Given the description of an element on the screen output the (x, y) to click on. 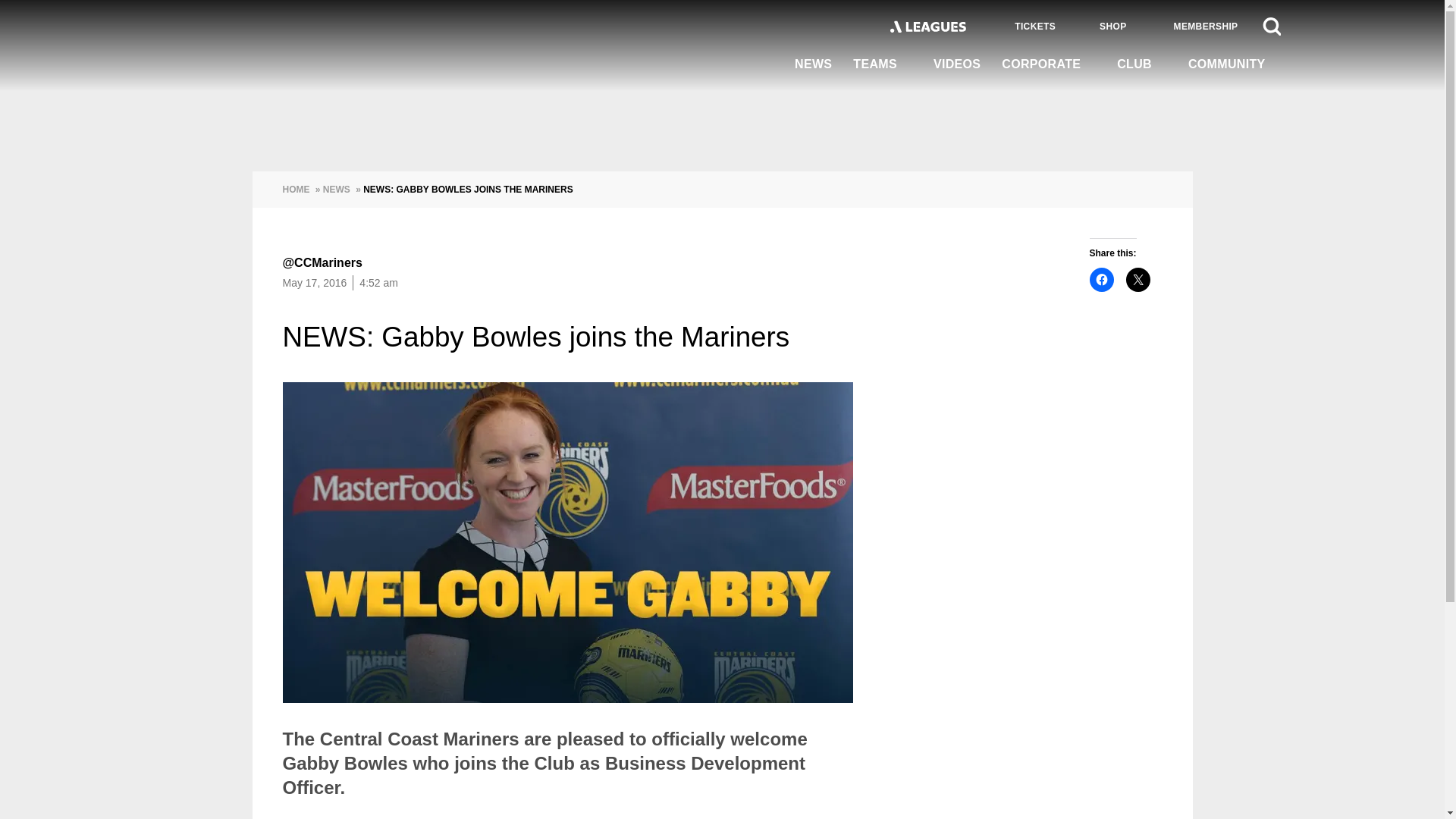
VIDEOS (957, 65)
NEWS (813, 65)
CLUB (1141, 64)
TEAMS (883, 64)
CORPORATE (1048, 64)
